Given the description of an element on the screen output the (x, y) to click on. 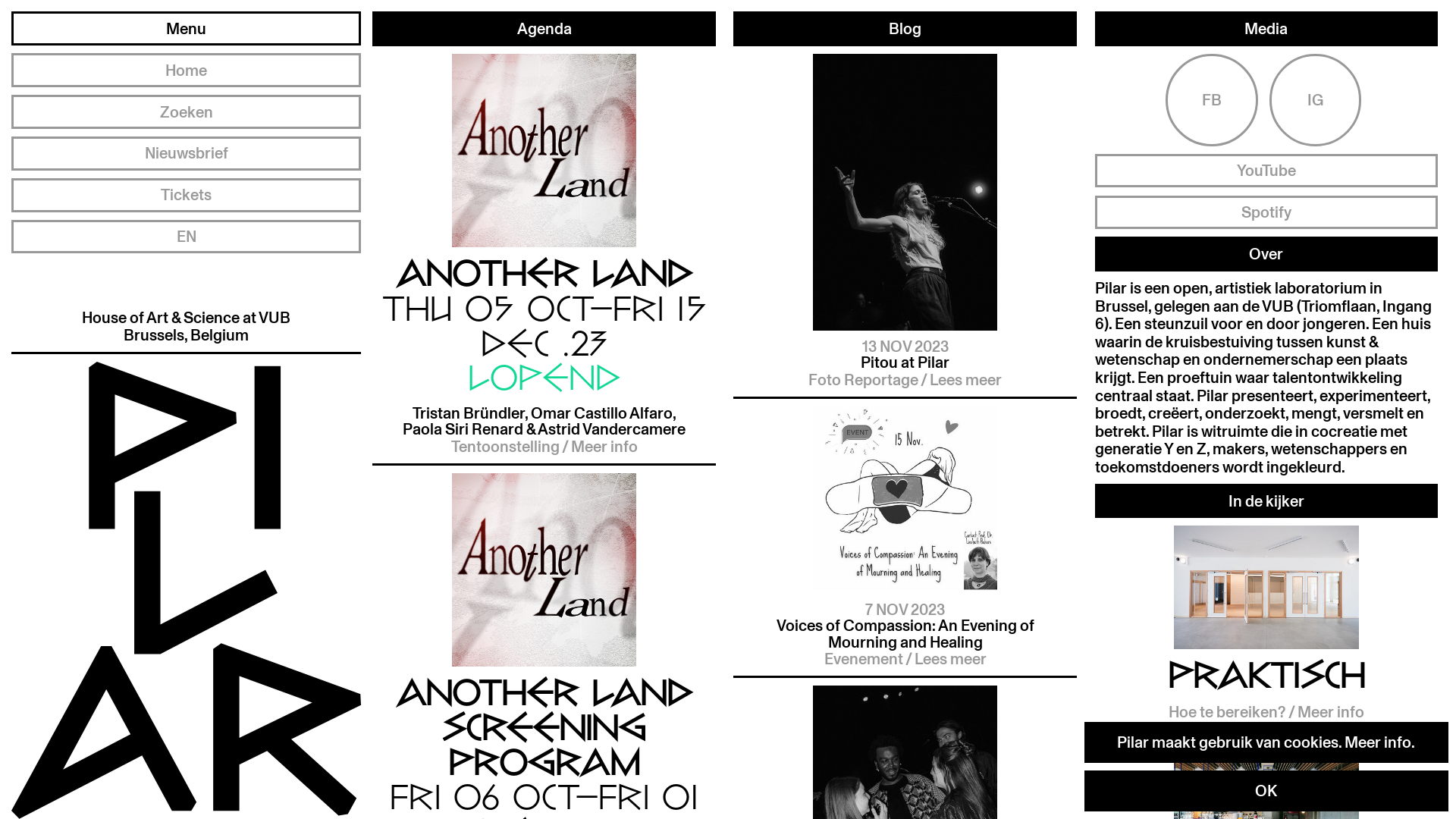
EN Element type: text (185, 236)
IG Element type: text (1315, 99)
FB Element type: text (1211, 99)
Over Element type: text (1266, 253)
Agenda Element type: text (544, 28)
13 NOV 2023
Pitou at Pilar
Foto Reportage / Lees meer Element type: text (904, 225)
OK Element type: text (1266, 790)
YouTube Element type: text (1266, 170)
PRAKTISCH
Hoe te bereiken? / Meer info Element type: text (1266, 627)
Home Element type: text (185, 70)
Zoeken Element type: text (185, 111)
Menu Element type: text (185, 28)
Spotify Element type: text (1266, 212)
Nieuwsbrief Element type: text (185, 153)
Meer info Element type: text (1377, 741)
Tickets Element type: text (185, 195)
Blog Element type: text (904, 28)
